Given the description of an element on the screen output the (x, y) to click on. 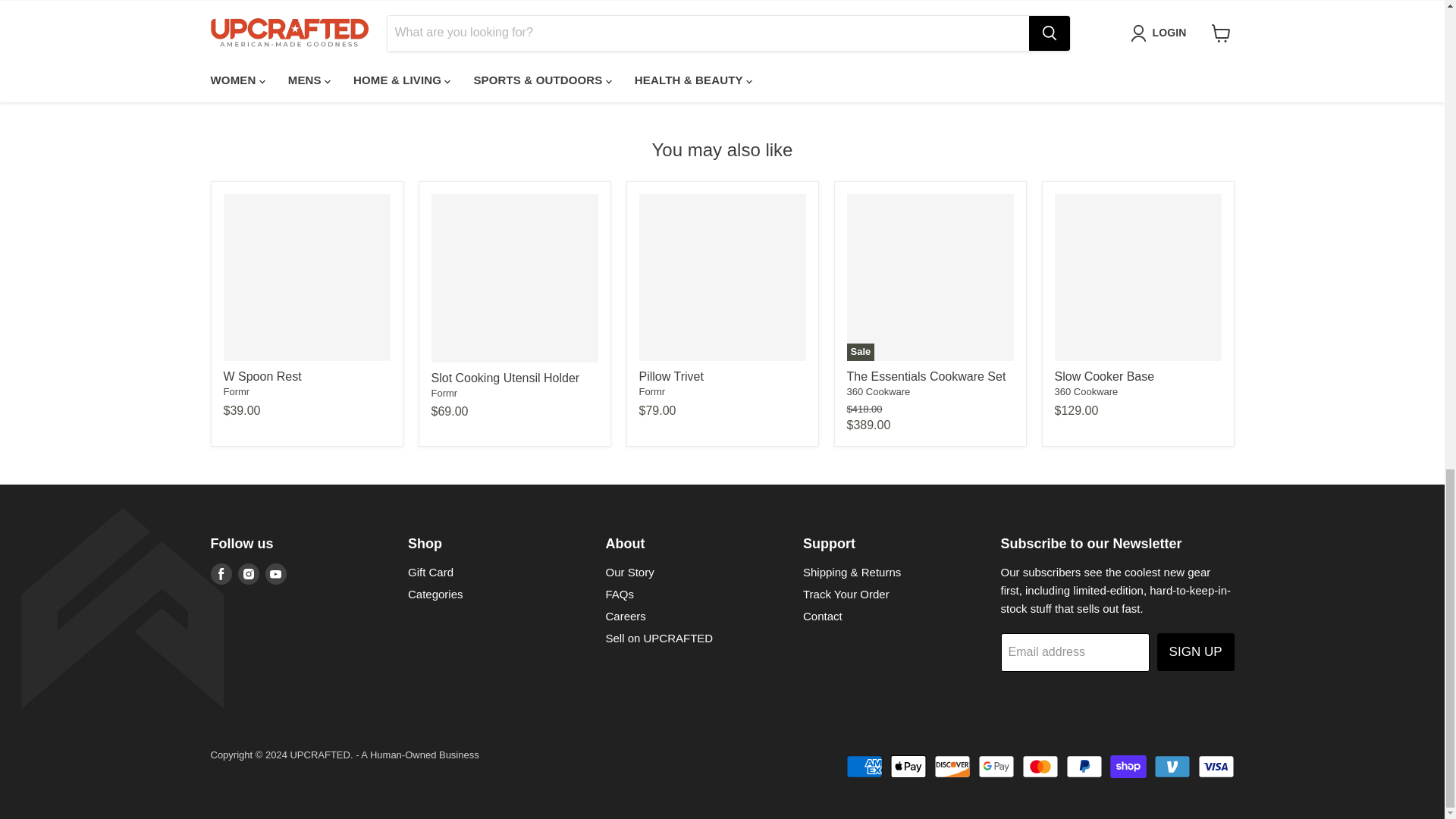
360 Cookware (1086, 391)
360 Cookware (877, 391)
Formr (652, 391)
Instagram (248, 573)
Facebook (221, 573)
American Express (863, 766)
Youtube (275, 573)
Formr (443, 392)
Formr (235, 391)
